Given the description of an element on the screen output the (x, y) to click on. 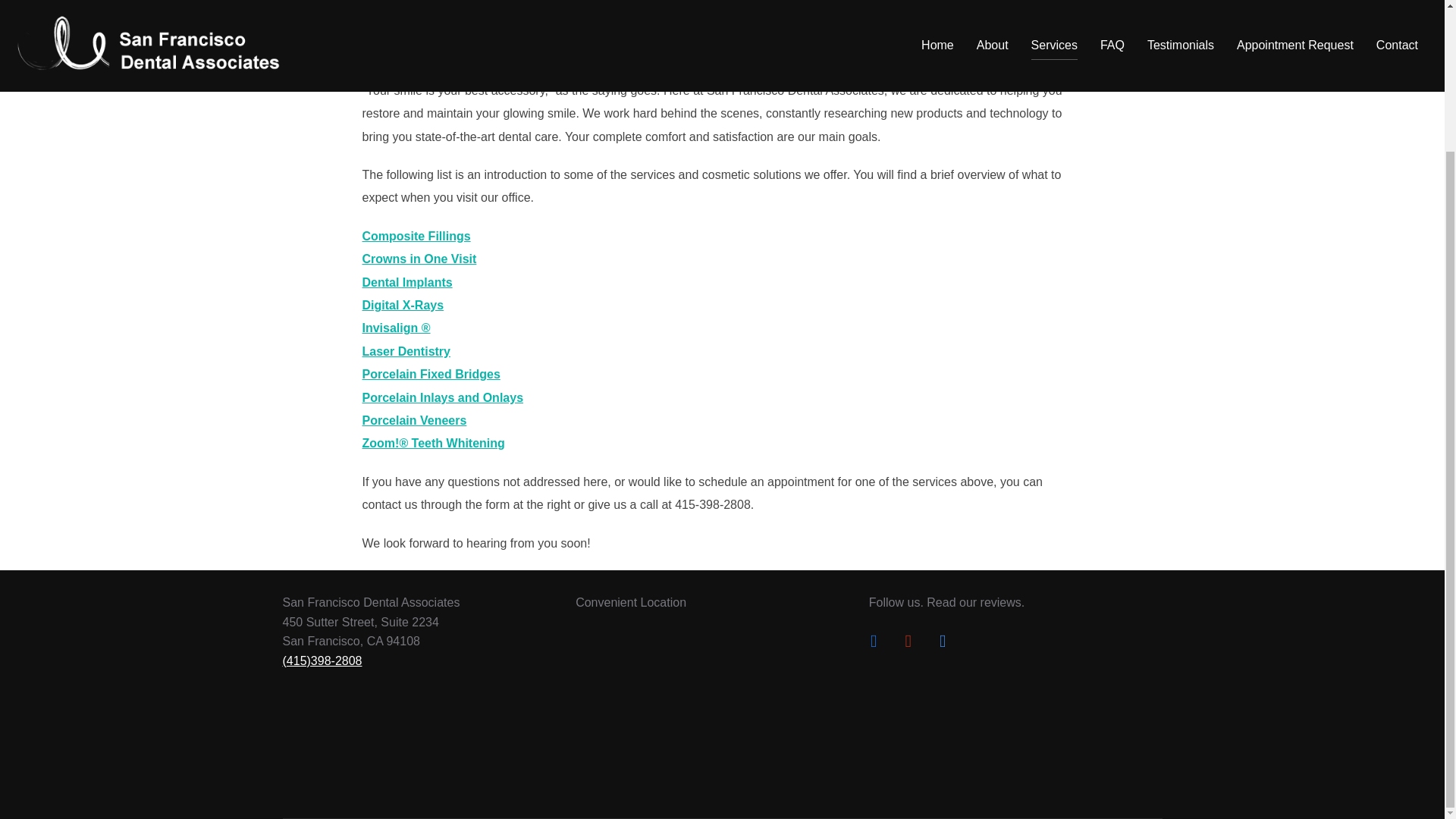
yelp (907, 639)
Google (942, 639)
Crowns in One Visit (419, 258)
Digital X-Rays (403, 305)
gumroad (942, 639)
Facebook (873, 639)
Dental Implants (407, 282)
Porcelain Fixed Bridges (431, 373)
Porcelain Inlays and Onlays (443, 397)
facebook (873, 639)
Composite Fillings (416, 236)
Yelp (907, 639)
Porcelain Veneers (414, 420)
Laser Dentistry (406, 350)
